Given the description of an element on the screen output the (x, y) to click on. 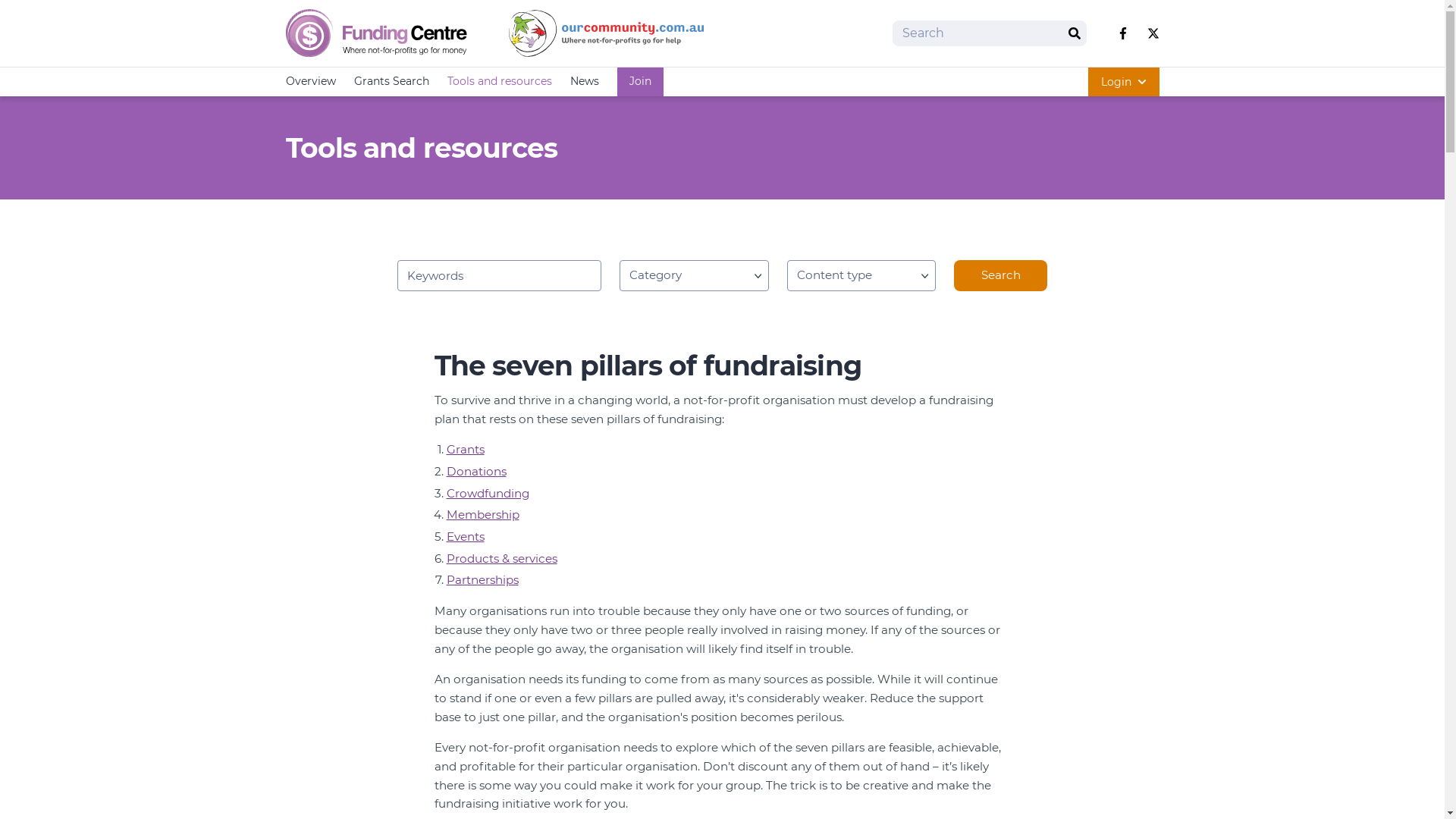
Partnerships Element type: text (481, 579)
Donations Element type: text (475, 471)
Membership Element type: text (481, 514)
Search Element type: text (1073, 33)
Grants Element type: text (464, 449)
Join Element type: text (640, 81)
Tools and resources Element type: text (499, 81)
Events Element type: text (464, 536)
Grants Search Element type: text (390, 81)
News Element type: text (584, 81)
Like us on Facebook Element type: text (1122, 33)
Search Element type: text (1000, 275)
Products & services Element type: text (500, 558)
Follow us on Twitter Element type: text (1152, 33)
Crowdfunding Element type: text (486, 493)
Overview Element type: text (310, 81)
Login Element type: text (1122, 81)
